Given the description of an element on the screen output the (x, y) to click on. 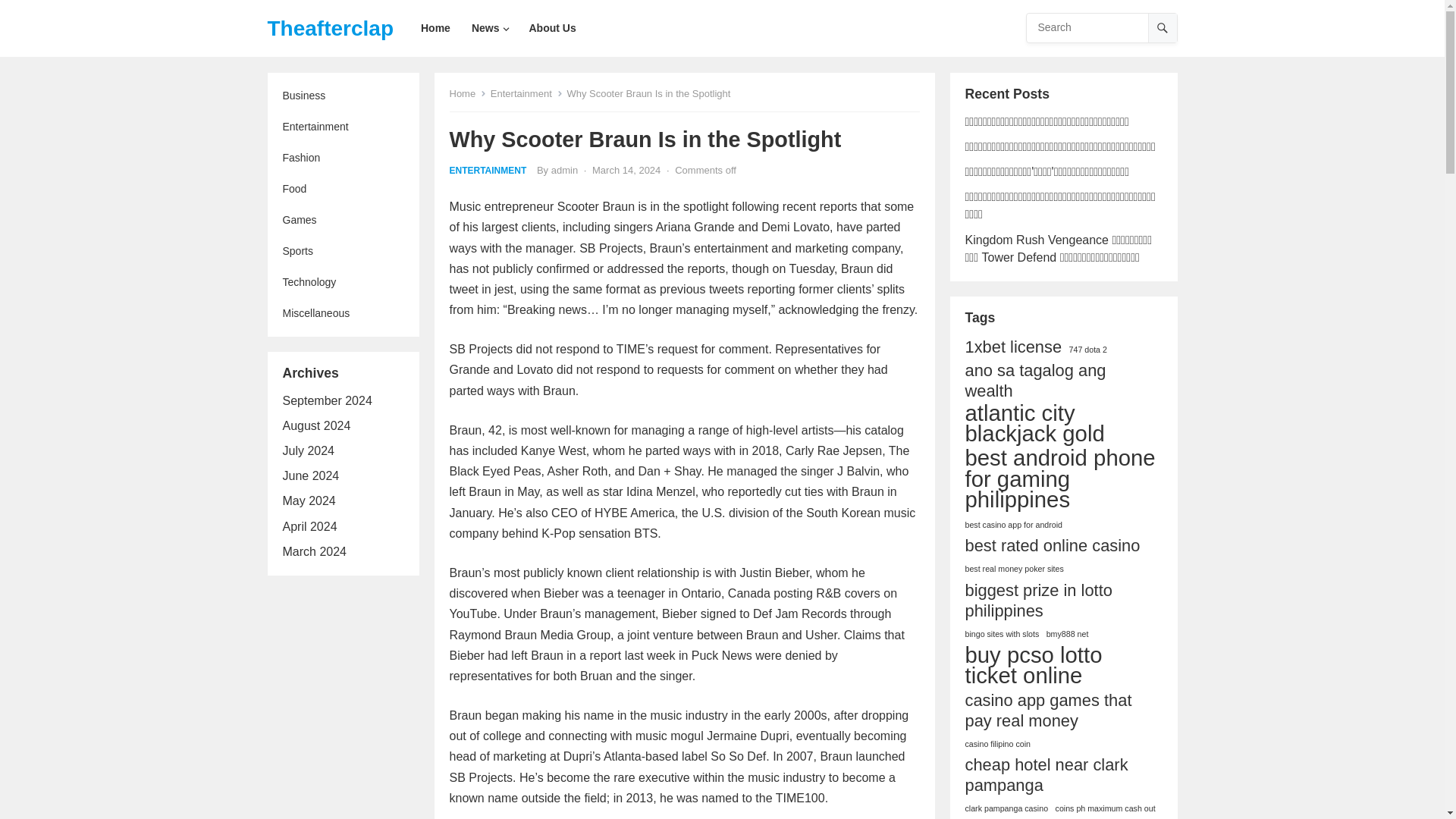
June 2024 (310, 475)
September 2024 (326, 400)
Technology (342, 282)
July 2024 (308, 450)
April 2024 (309, 526)
May 2024 (308, 500)
Food (342, 188)
Posts by admin (564, 170)
Games (342, 219)
Theafterclap (329, 28)
